Given the description of an element on the screen output the (x, y) to click on. 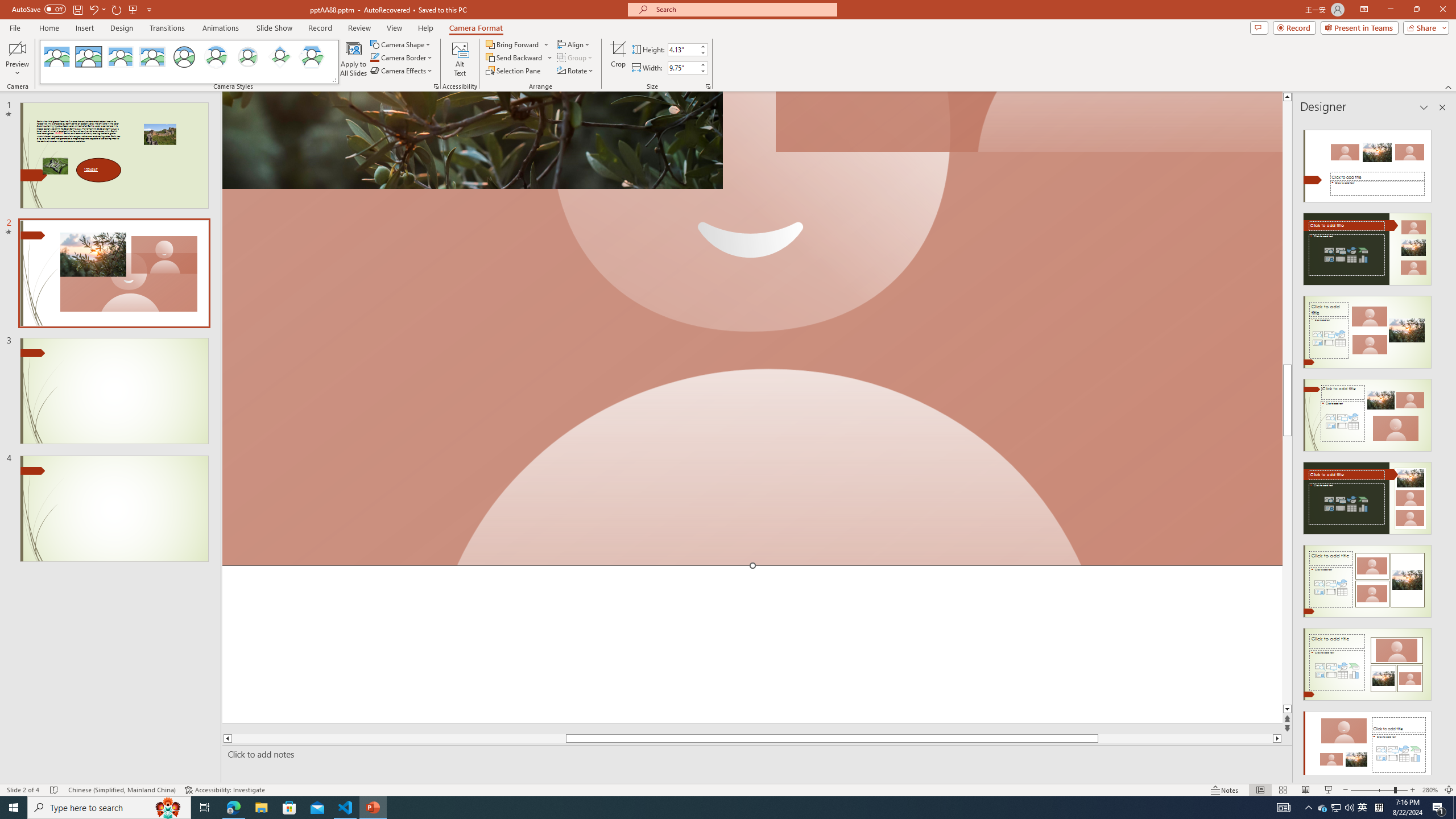
Camera Border (401, 56)
Group (575, 56)
Bring Forward (517, 44)
Camera Format (475, 28)
